Given the description of an element on the screen output the (x, y) to click on. 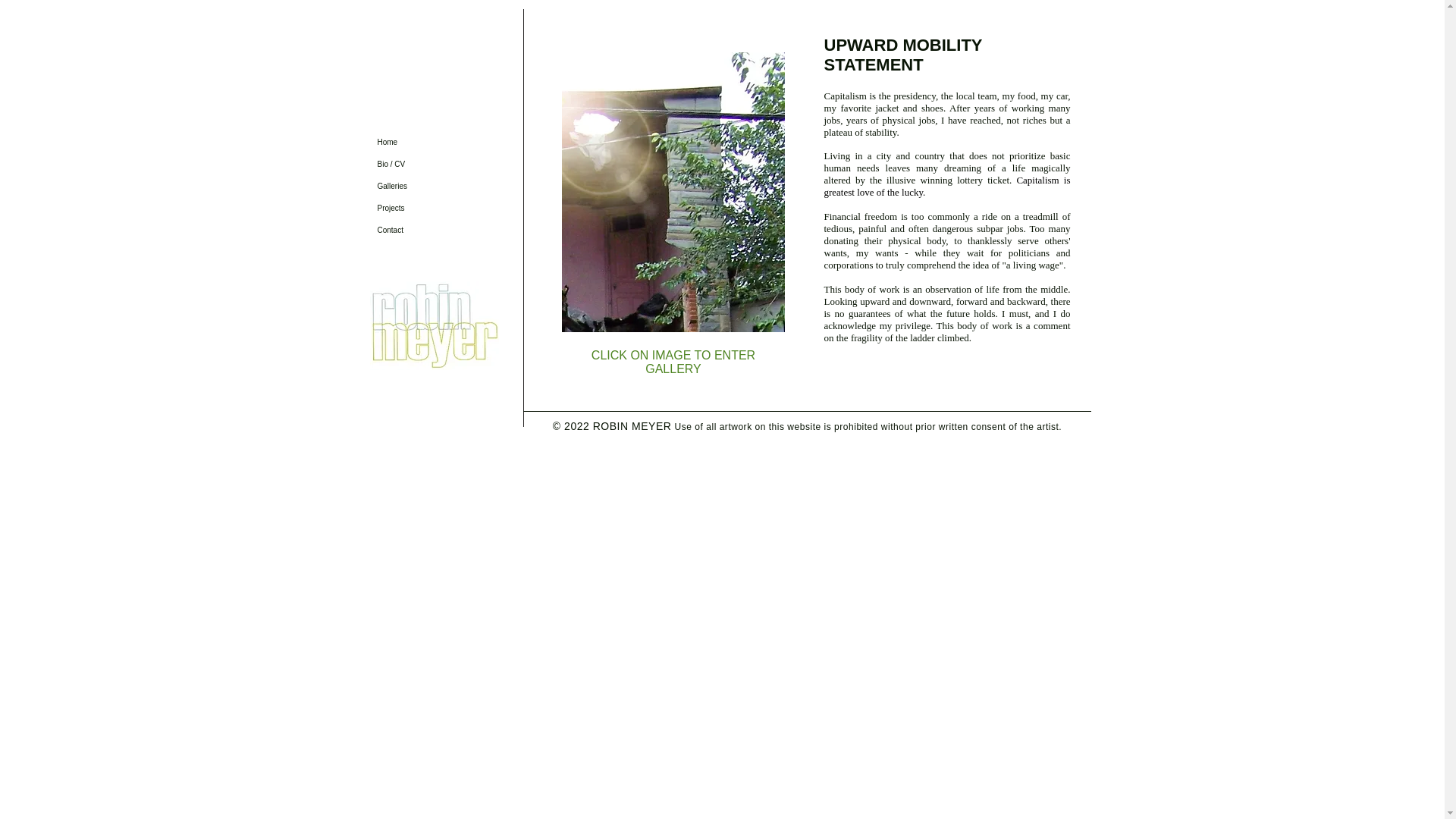
Contact (423, 229)
Projects (423, 208)
Galleries (423, 186)
Home (423, 142)
